Given the description of an element on the screen output the (x, y) to click on. 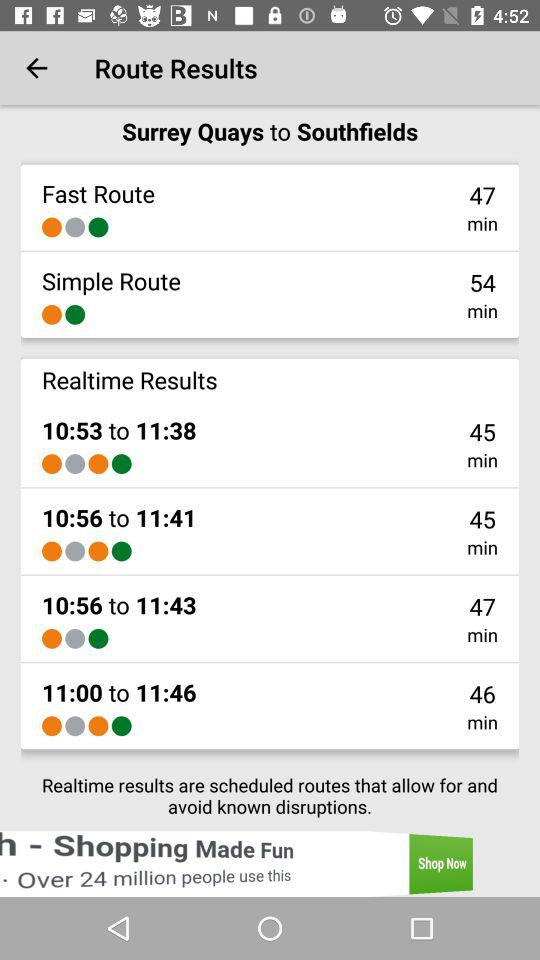
press item above simple route (51, 227)
